Given the description of an element on the screen output the (x, y) to click on. 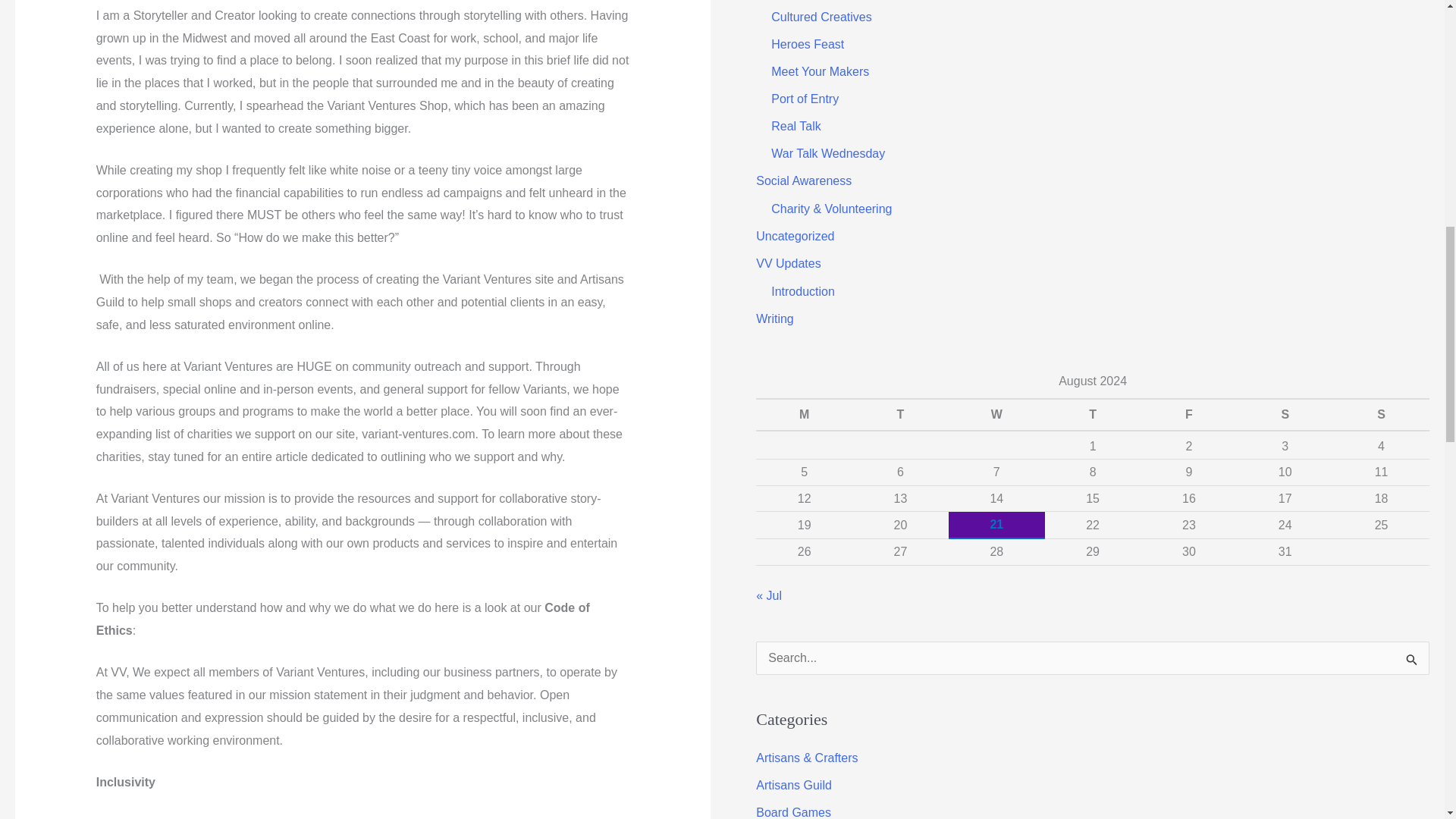
Tuesday (900, 414)
Wednesday (997, 414)
Monday (803, 414)
Saturday (1284, 414)
Sunday (1381, 414)
Friday (1188, 414)
Thursday (1093, 414)
